Given the description of an element on the screen output the (x, y) to click on. 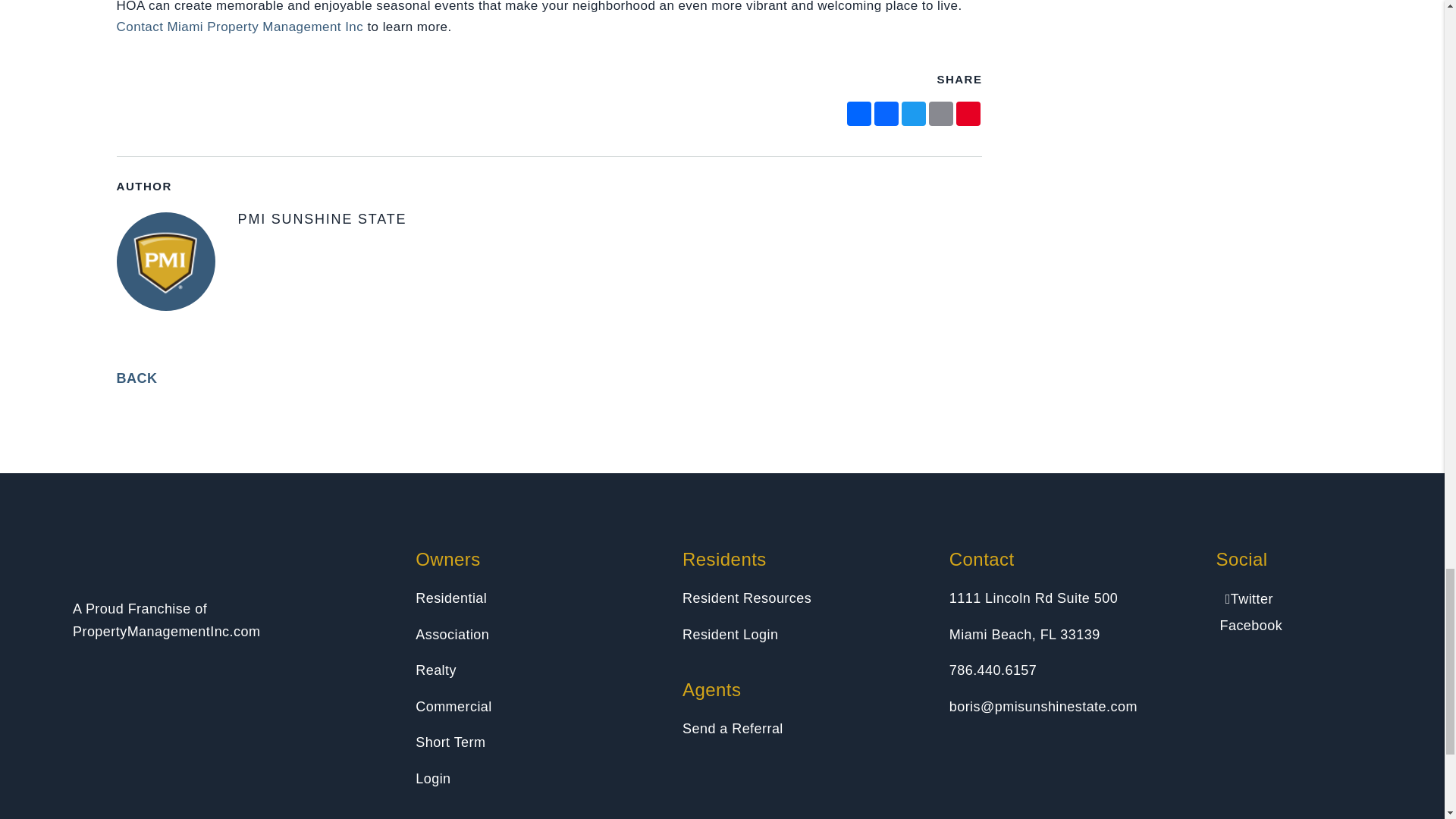
opens in new window (858, 113)
opens in new window (913, 113)
opens in new window (941, 113)
opens in new window (885, 113)
